Given the description of an element on the screen output the (x, y) to click on. 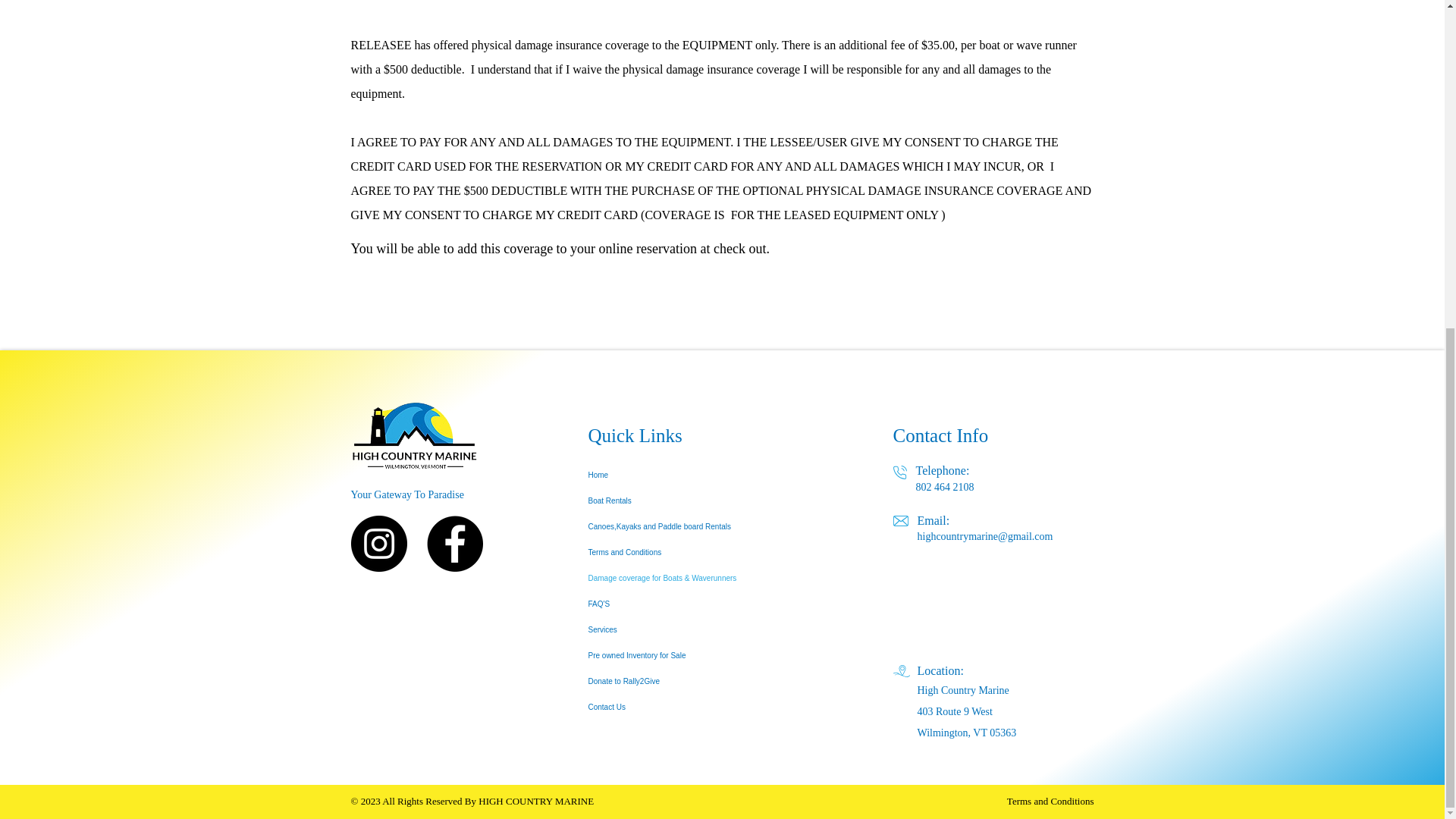
Contact Us (708, 707)
Terms and Conditions (1050, 800)
Pre owned Inventory for Sale (708, 655)
Email: (933, 521)
FAQ'S (708, 604)
Donate to Rally2Give (708, 681)
Home (708, 475)
Services (708, 629)
Boat Rentals (708, 501)
802 464 2108 (944, 487)
Terms and Conditions (708, 552)
Canoes,Kayaks and Paddle board Rentals (708, 526)
Telephone: (942, 470)
